Given the description of an element on the screen output the (x, y) to click on. 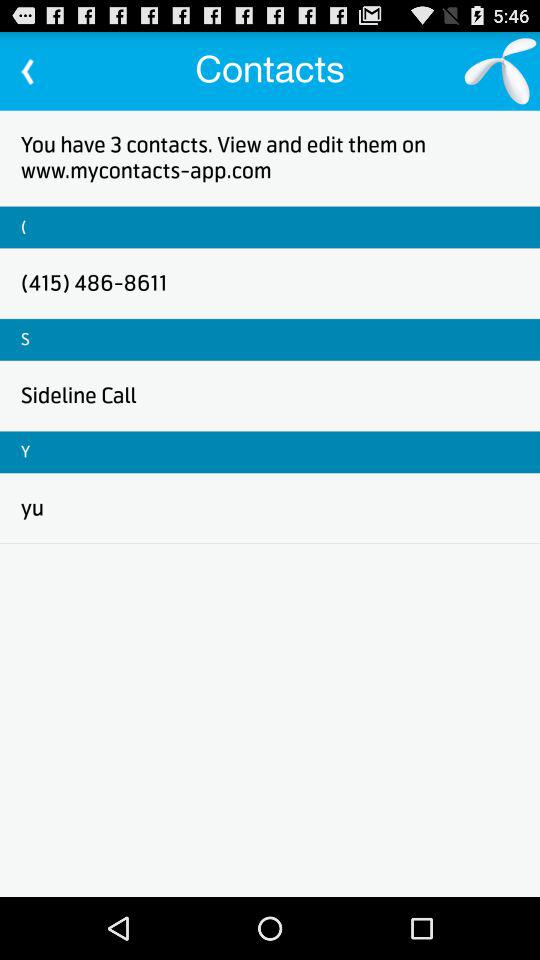
choose the icon below the you have 3 icon (23, 226)
